Given the description of an element on the screen output the (x, y) to click on. 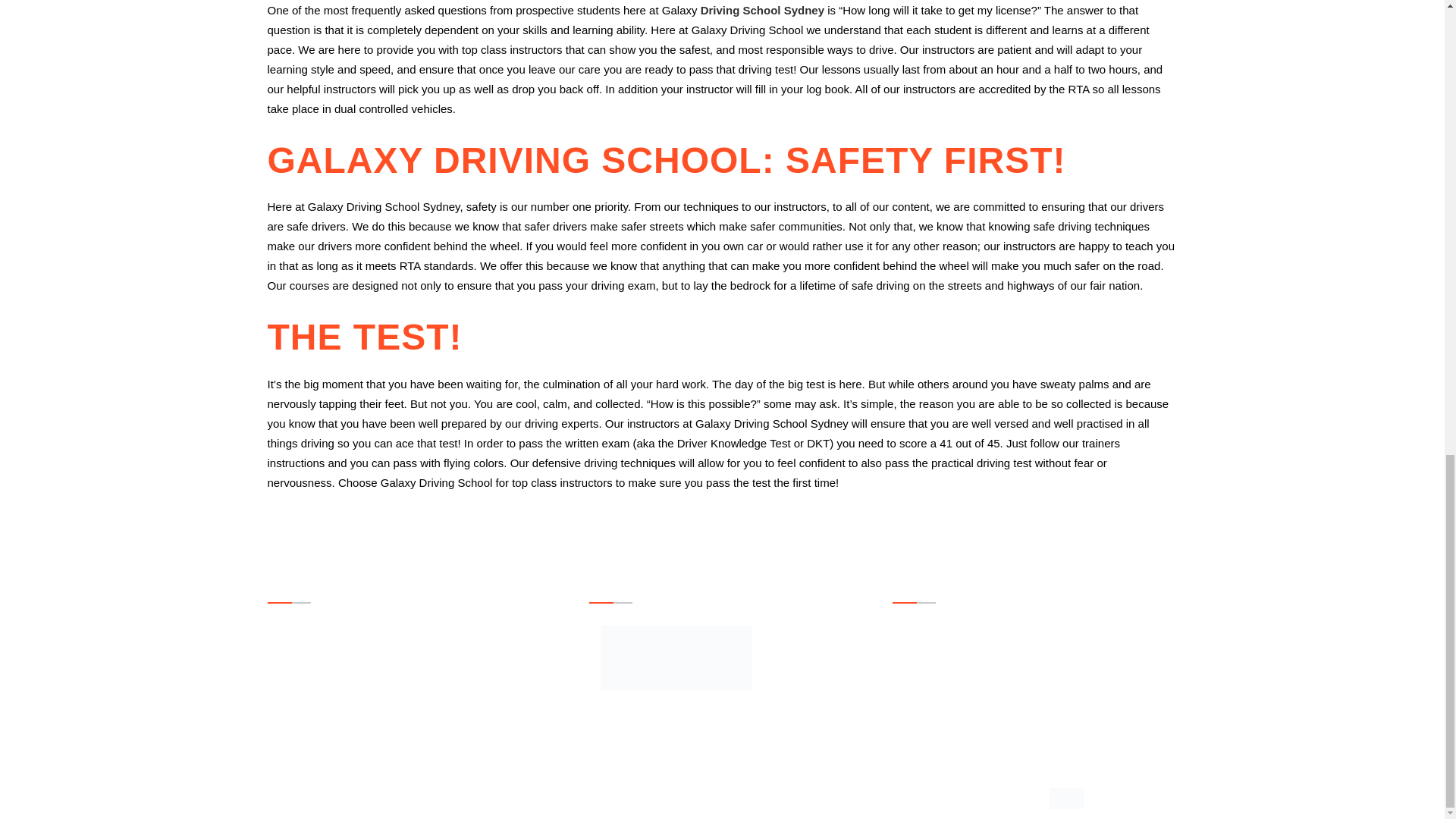
Website by Make My Website (1083, 797)
1800 754 174 (972, 629)
Driving School Sydney (762, 10)
